Given the description of an element on the screen output the (x, y) to click on. 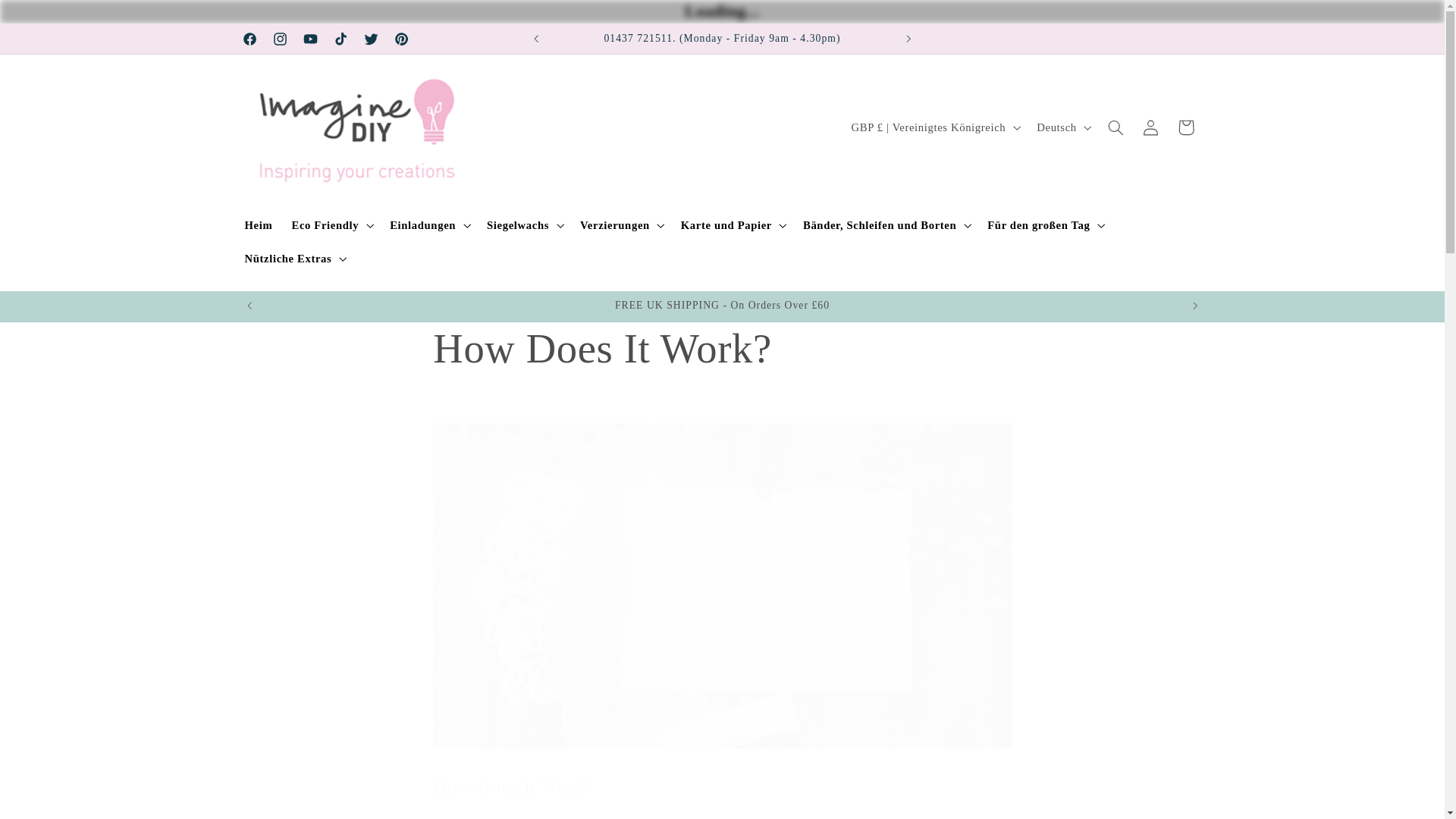
YouTube (310, 38)
Direkt zum Inhalt (49, 19)
Twitter (370, 38)
Instagram (279, 38)
How Does It Work? (721, 348)
Facebook (249, 38)
Pinterest (400, 38)
TikTok (341, 38)
